Given the description of an element on the screen output the (x, y) to click on. 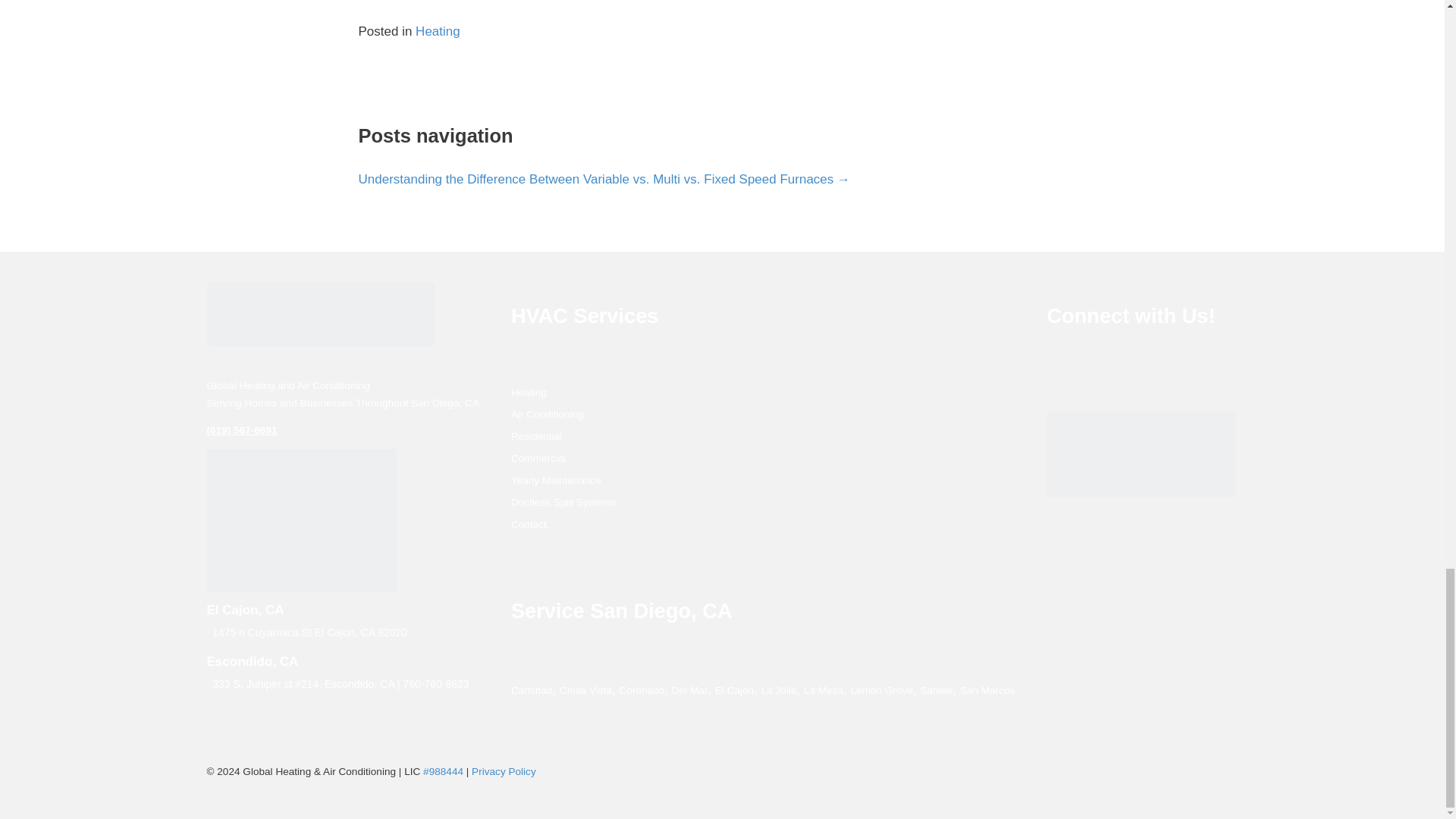
Logo-Solar-Outlined (319, 313)
